Given the description of an element on the screen output the (x, y) to click on. 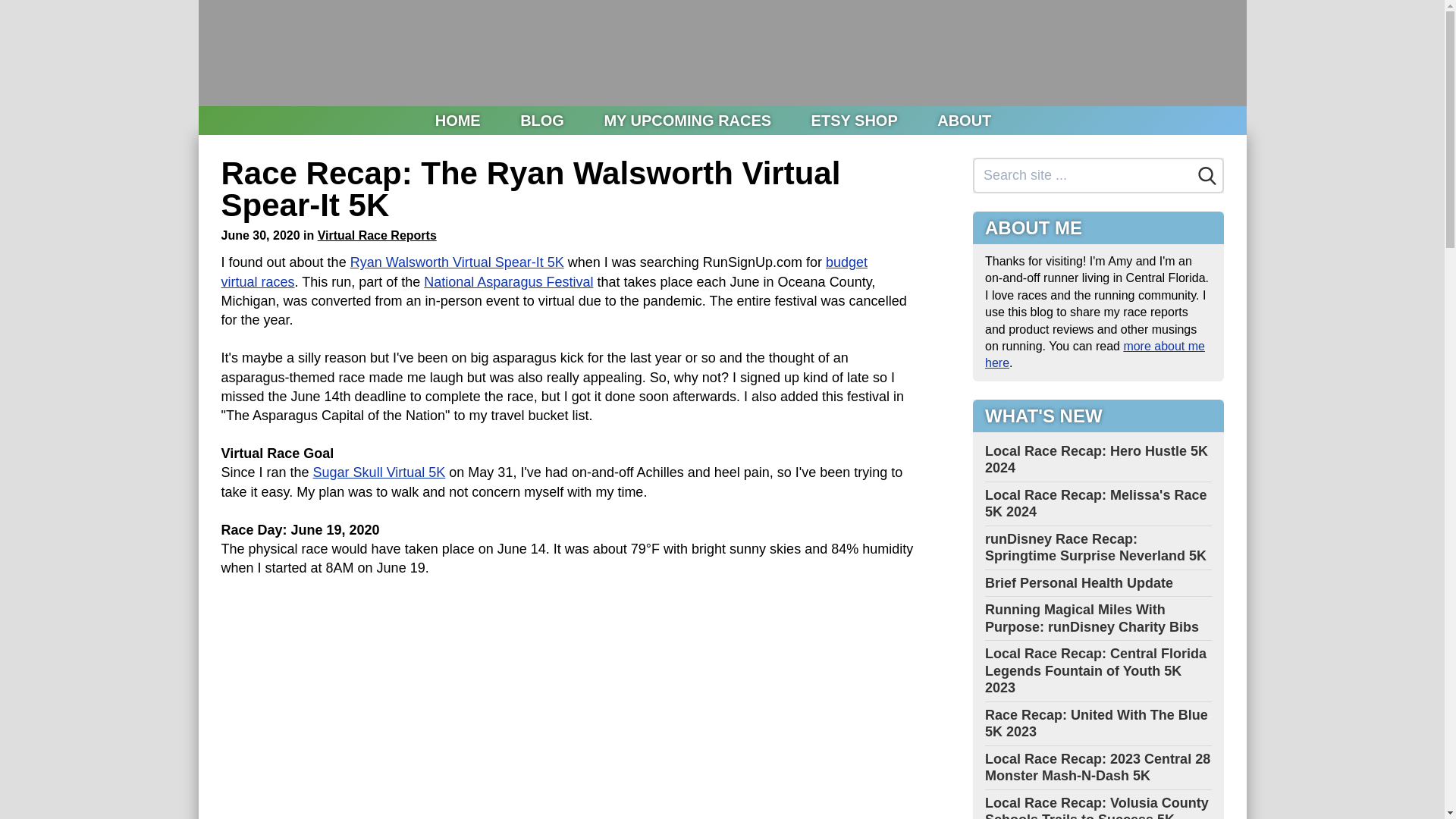
ABOUT (963, 120)
HOME (457, 120)
National Asparagus Festival (507, 281)
budget virtual races (544, 271)
Ryan Walsworth Virtual Spear-It 5K (457, 262)
Virtual Race Reports (376, 235)
ETSY SHOP (854, 120)
MY UPCOMING RACES (687, 120)
Sugar Skull Virtual 5K (379, 472)
BLOG (542, 120)
